Given the description of an element on the screen output the (x, y) to click on. 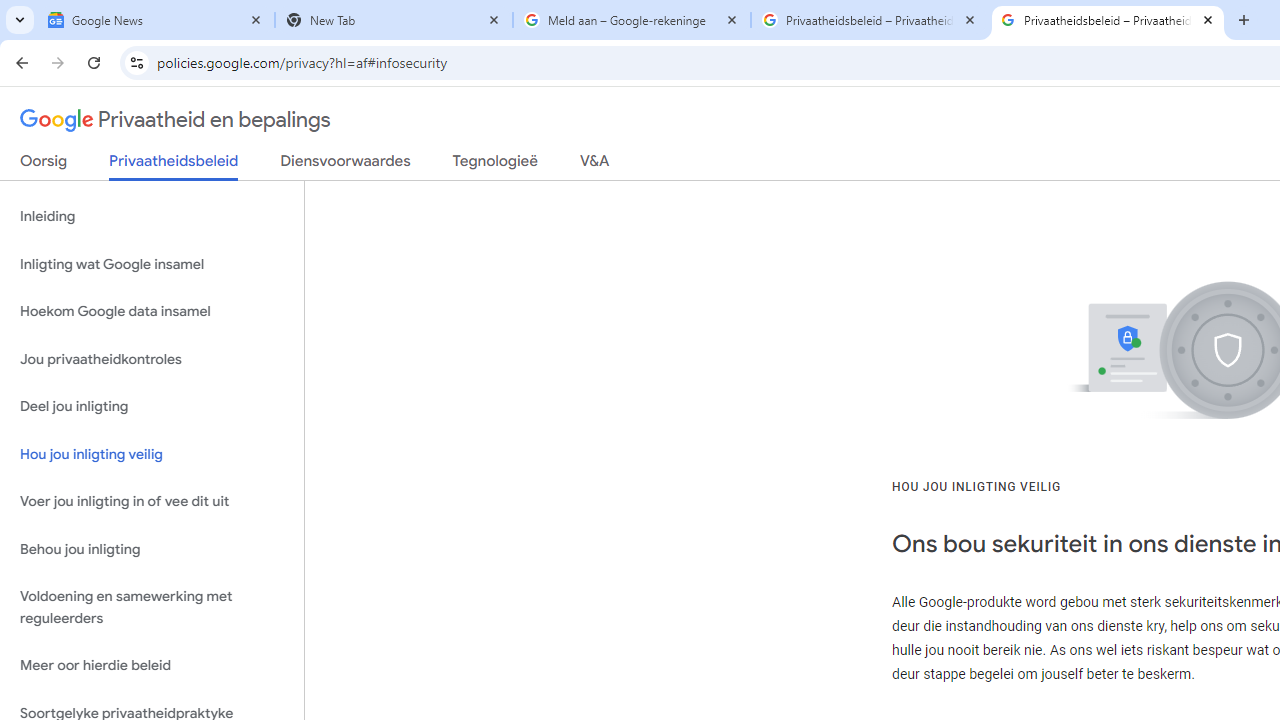
Jou privaatheidkontroles (152, 358)
New Tab (394, 20)
Behou jou inligting (152, 548)
Voer jou inligting in of vee dit uit (152, 502)
Google News (156, 20)
Hoekom Google data insamel (152, 312)
